Given the description of an element on the screen output the (x, y) to click on. 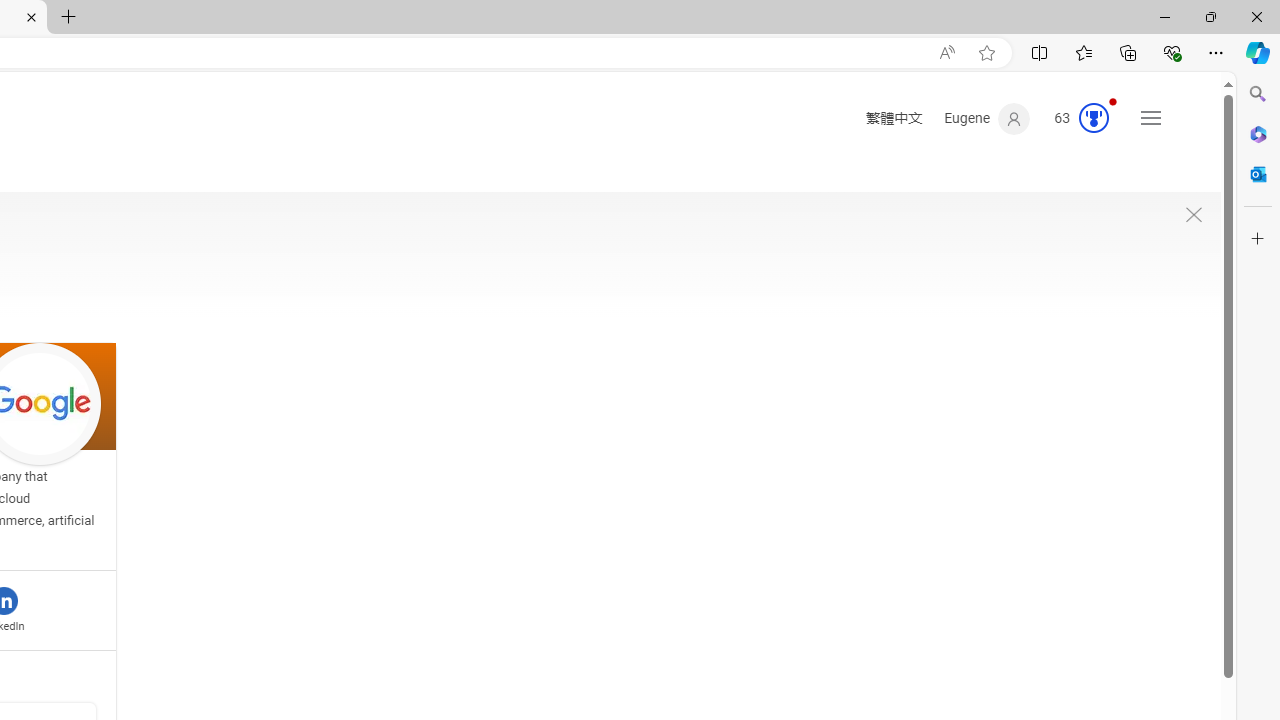
Settings and quick links (1150, 117)
Microsoft Rewards 54 (1075, 119)
